Given the description of an element on the screen output the (x, y) to click on. 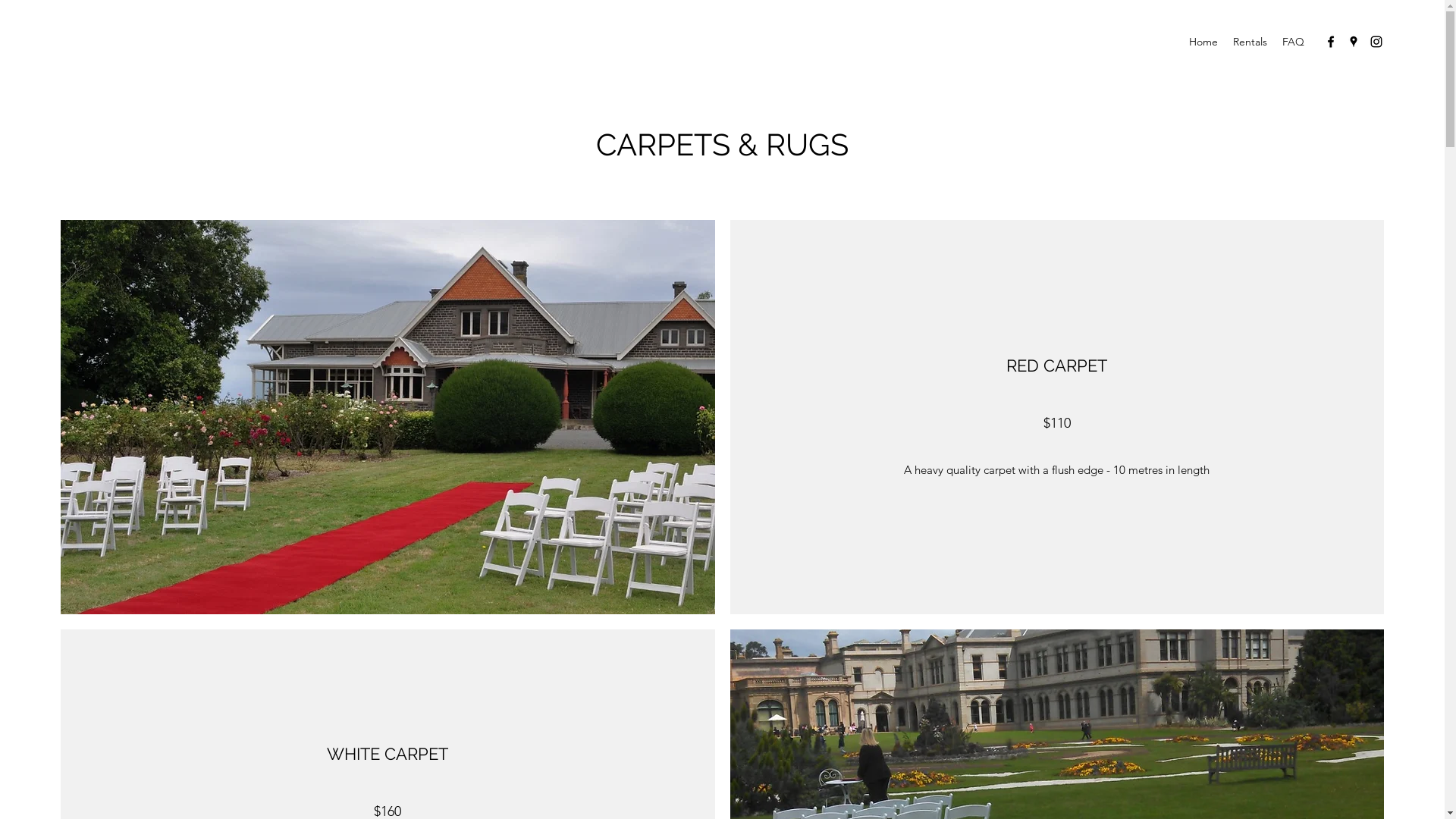
Rentals Element type: text (1249, 41)
Home Element type: text (1203, 41)
FAQ Element type: text (1292, 41)
